Given the description of an element on the screen output the (x, y) to click on. 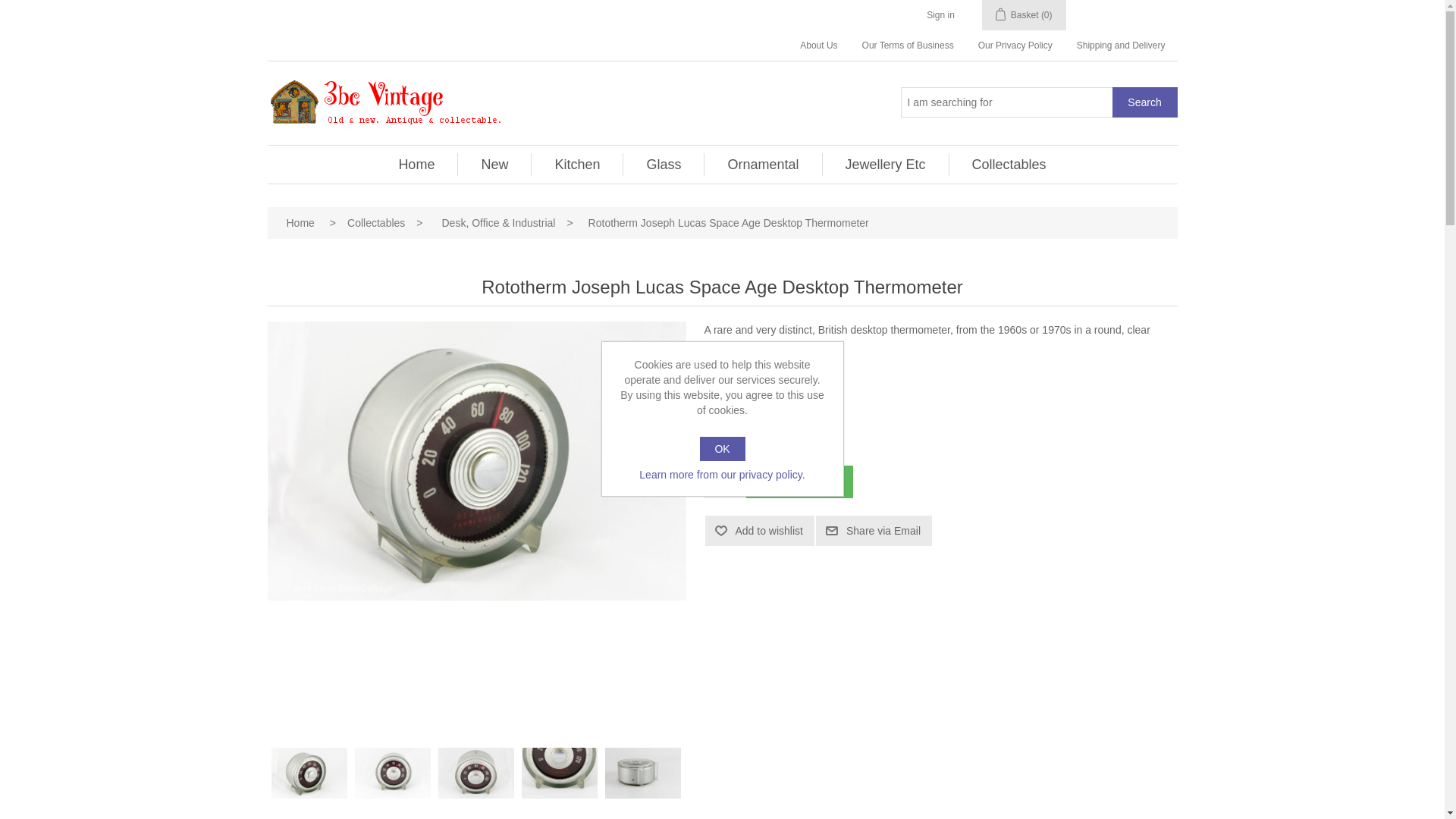
Search Element type: text (1143, 101)
Collectables Element type: text (375, 222)
Home Element type: text (299, 222)
Shipping and Delivery Element type: text (1120, 45)
Rototherm Joseph Lucas Space Age Desktop Thermometer Element type: hover (309, 772)
Our Privacy Policy Element type: text (1015, 45)
Rototherm Joseph Lucas Space Age Desktop Thermometer Element type: hover (559, 772)
Collectables Element type: text (1009, 164)
OK Element type: text (721, 448)
Add to basket Element type: text (799, 481)
Learn more from our privacy policy. Element type: text (722, 474)
Desk, Office & Industrial Element type: text (498, 222)
Our Terms of Business Element type: text (907, 45)
About Us Element type: text (818, 45)
Three Bears Cottage Vintage Shop logo Element type: hover (384, 102)
Basket (0) Element type: text (1023, 15)
Rototherm Joseph Lucas Space Age Desktop Thermometer Element type: hover (475, 460)
Ornamental Element type: text (762, 164)
Jewellery Etc Element type: text (885, 164)
Glass Element type: text (663, 164)
Rototherm Joseph Lucas Space Age Desktop Thermometer Element type: hover (392, 772)
New Element type: text (494, 164)
Rototherm Joseph Lucas Space Age Desktop Thermometer Element type: hover (642, 772)
Rototherm Joseph Lucas Space Age Desktop Thermometer Element type: hover (476, 772)
Home Element type: text (416, 164)
Add to wishlist Element type: text (759, 530)
Share via Email Element type: text (873, 530)
Kitchen Element type: text (576, 164)
Sign in Element type: text (940, 15)
